Given the description of an element on the screen output the (x, y) to click on. 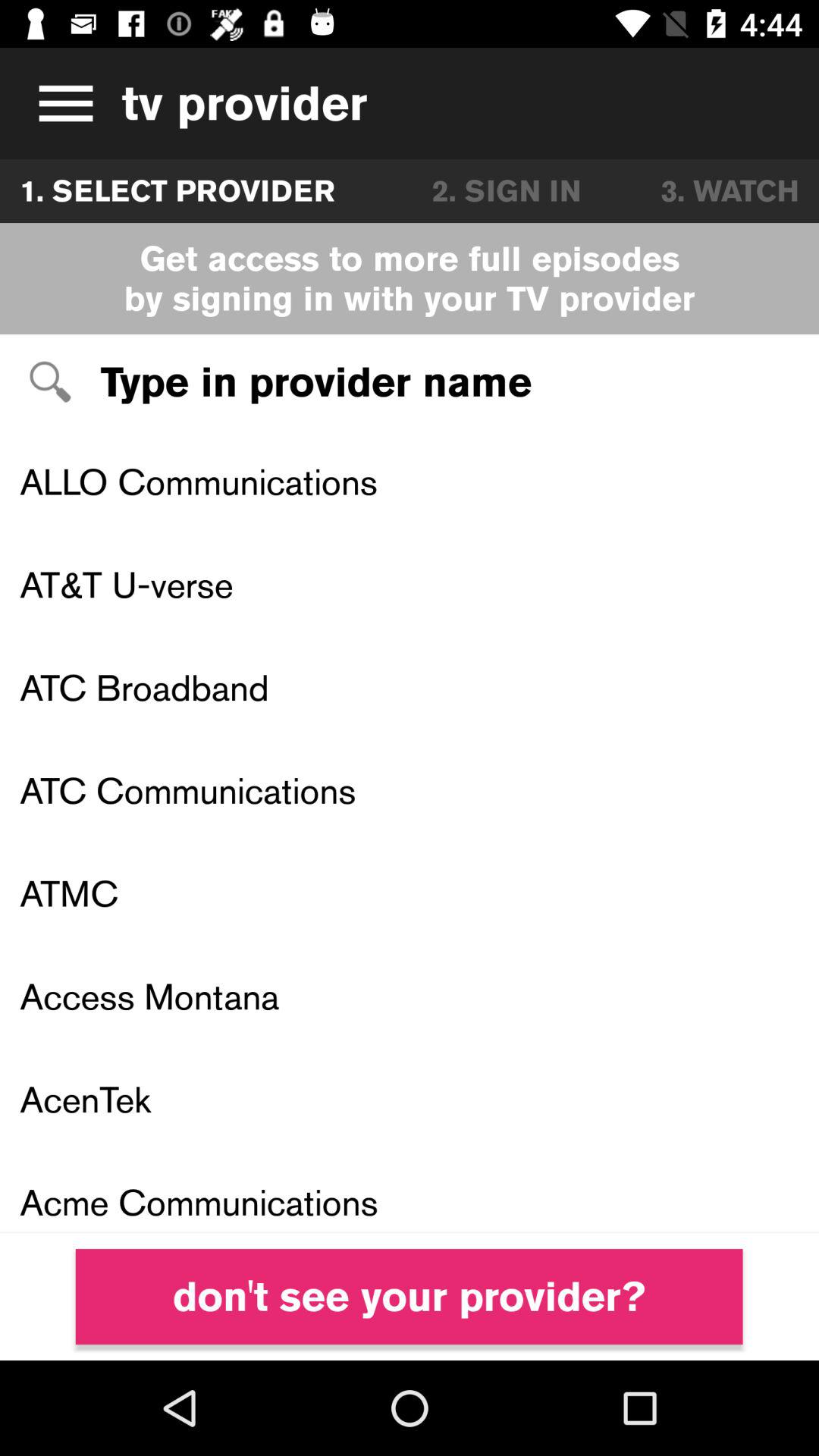
turn on the icon above the don t see icon (409, 1191)
